Given the description of an element on the screen output the (x, y) to click on. 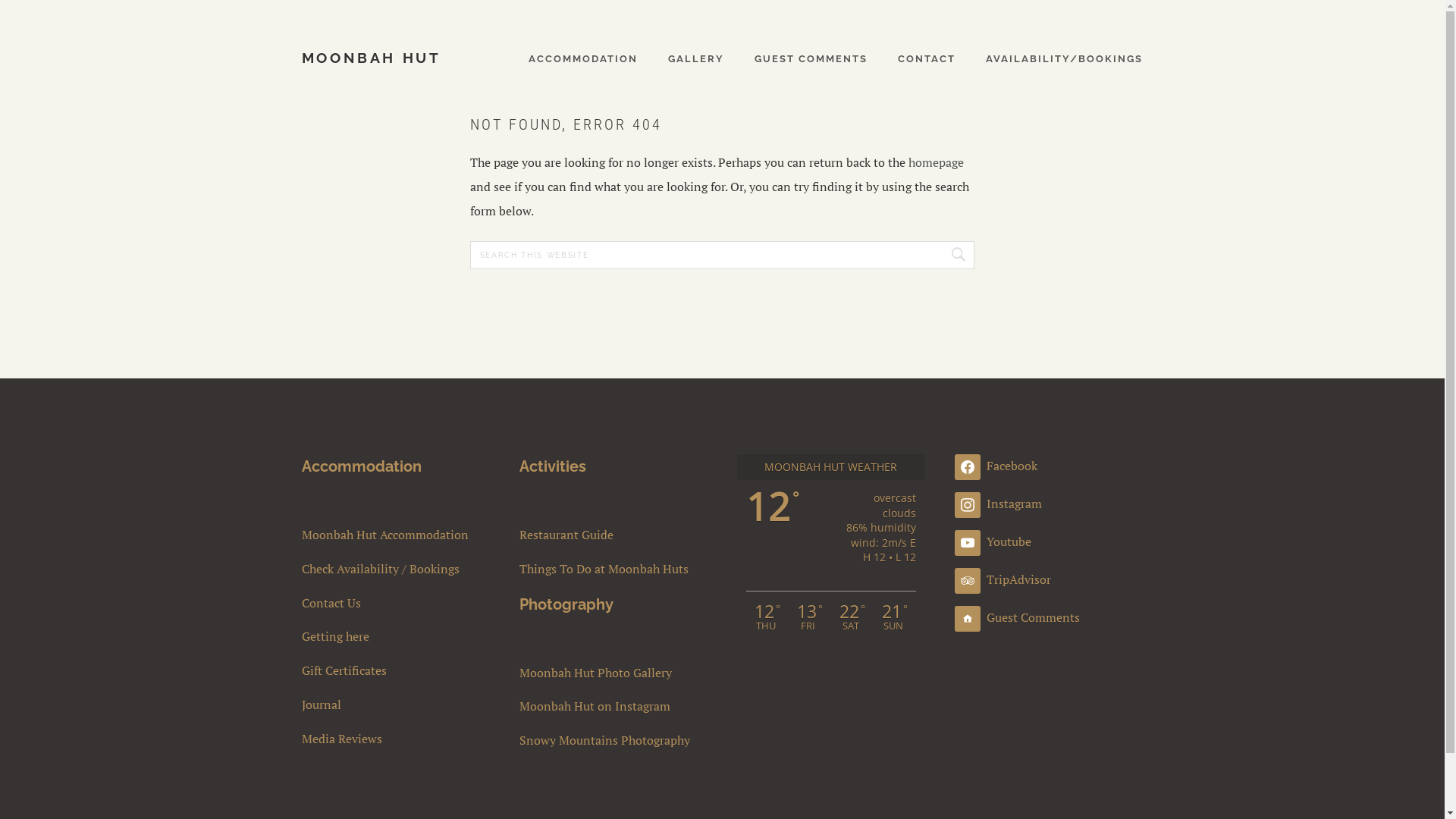
Guest Comments Element type: text (1016, 616)
GUEST COMMENTS Element type: text (810, 57)
Moonbah Hut Photo Gallery Element type: text (613, 673)
Media Reviews Element type: text (395, 738)
Check Availability / Bookings Element type: text (395, 569)
Facebook Element type: text (995, 465)
Youtube Element type: text (992, 541)
Instagram Element type: text (997, 503)
Journal Element type: text (395, 704)
homepage Element type: text (935, 161)
AVAILABILITY/BOOKINGS Element type: text (1063, 57)
Moonbah Hut Accommodation Element type: text (395, 535)
Snowy Mountains Photography Element type: text (613, 740)
Gift Certificates Element type: text (395, 670)
Search Element type: text (955, 255)
Contact Us Element type: text (395, 603)
ACCOMMODATION Element type: text (582, 57)
Restaurant Guide Element type: text (613, 535)
TripAdvisor Element type: text (1002, 579)
Things To Do at Moonbah Huts Element type: text (613, 569)
Skip to primary navigation Element type: text (0, 0)
CONTACT Element type: text (926, 57)
MOONBAH HUT Element type: text (371, 57)
GALLERY Element type: text (696, 57)
Moonbah Hut on Instagram Element type: text (613, 706)
Getting here Element type: text (395, 636)
